Given the description of an element on the screen output the (x, y) to click on. 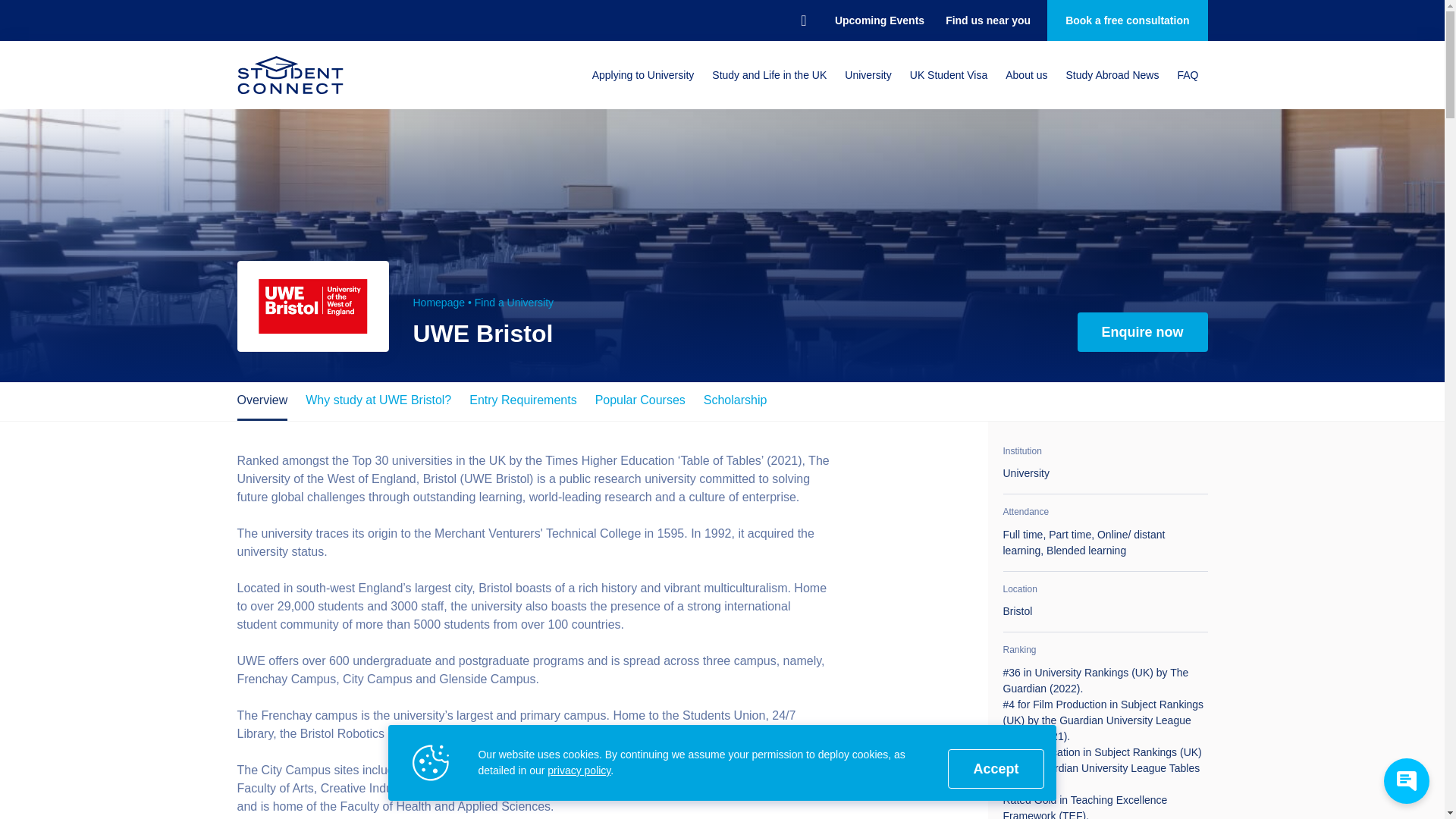
Book a free consultation (1126, 20)
UK Student Visa (948, 74)
Upcoming Events (878, 19)
Find us near you (987, 19)
Applying to University (643, 74)
Study and Life in the UK (769, 74)
Search (803, 20)
UWE Bristol (312, 306)
